Given the description of an element on the screen output the (x, y) to click on. 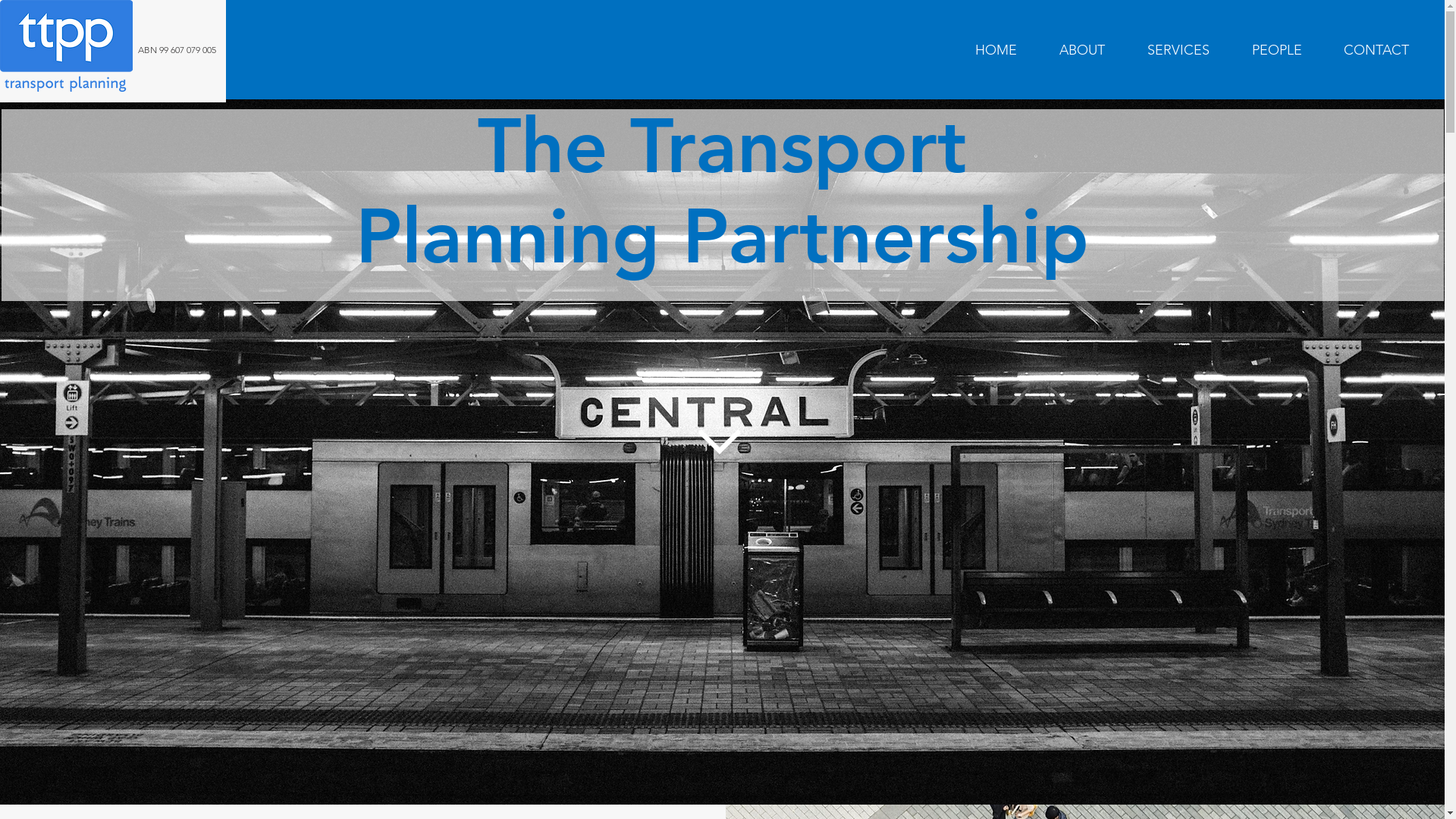
ABOUT Element type: text (1082, 50)
PEOPLE Element type: text (1276, 50)
CONTACT Element type: text (1375, 50)
SERVICES Element type: text (1178, 50)
HOME Element type: text (995, 50)
